Given the description of an element on the screen output the (x, y) to click on. 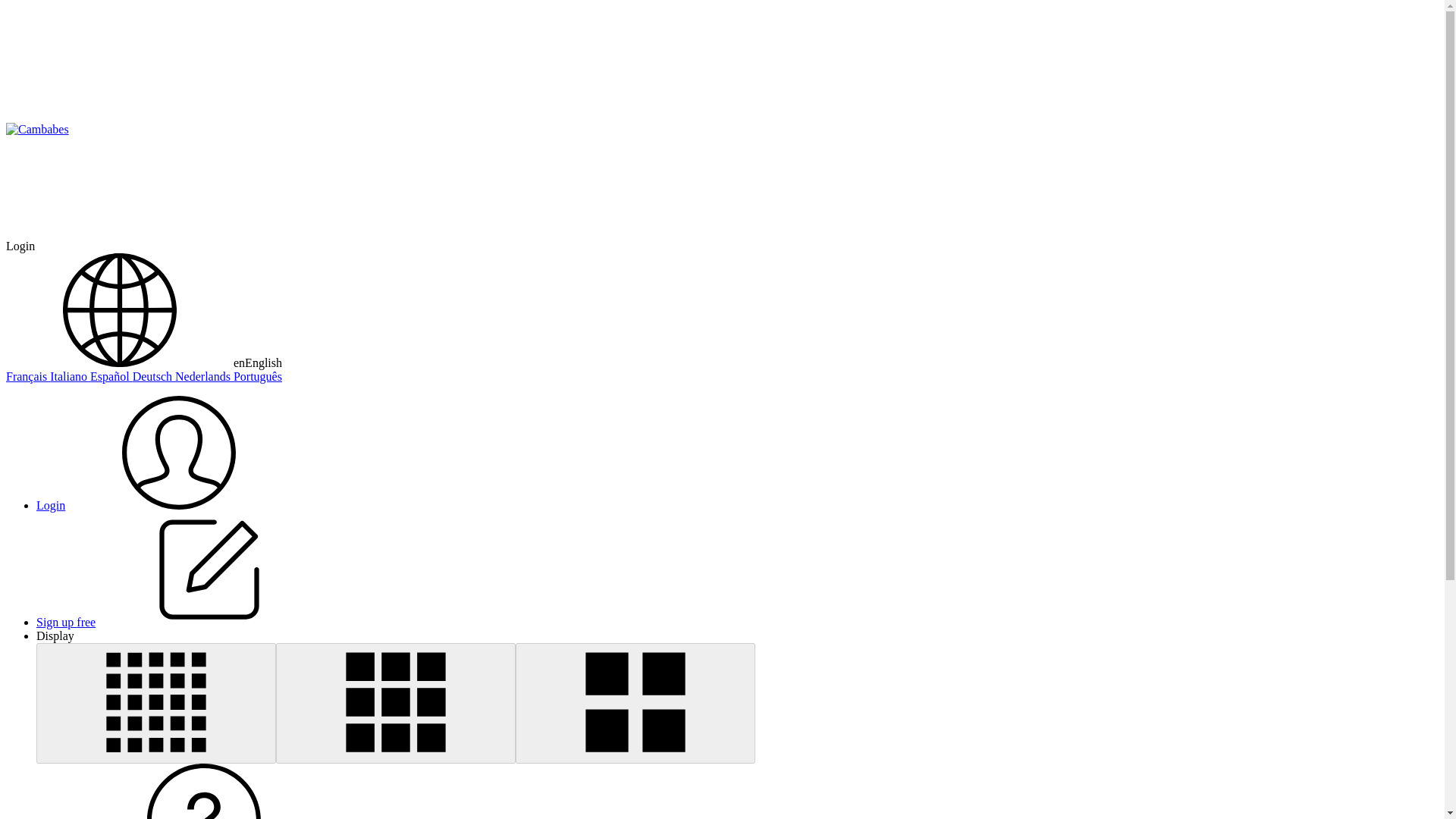
Nederlands (203, 376)
See all girls (36, 129)
Sign up free (179, 621)
Login (164, 504)
Italiano (69, 376)
Login (19, 245)
Deutsch (153, 376)
